Given the description of an element on the screen output the (x, y) to click on. 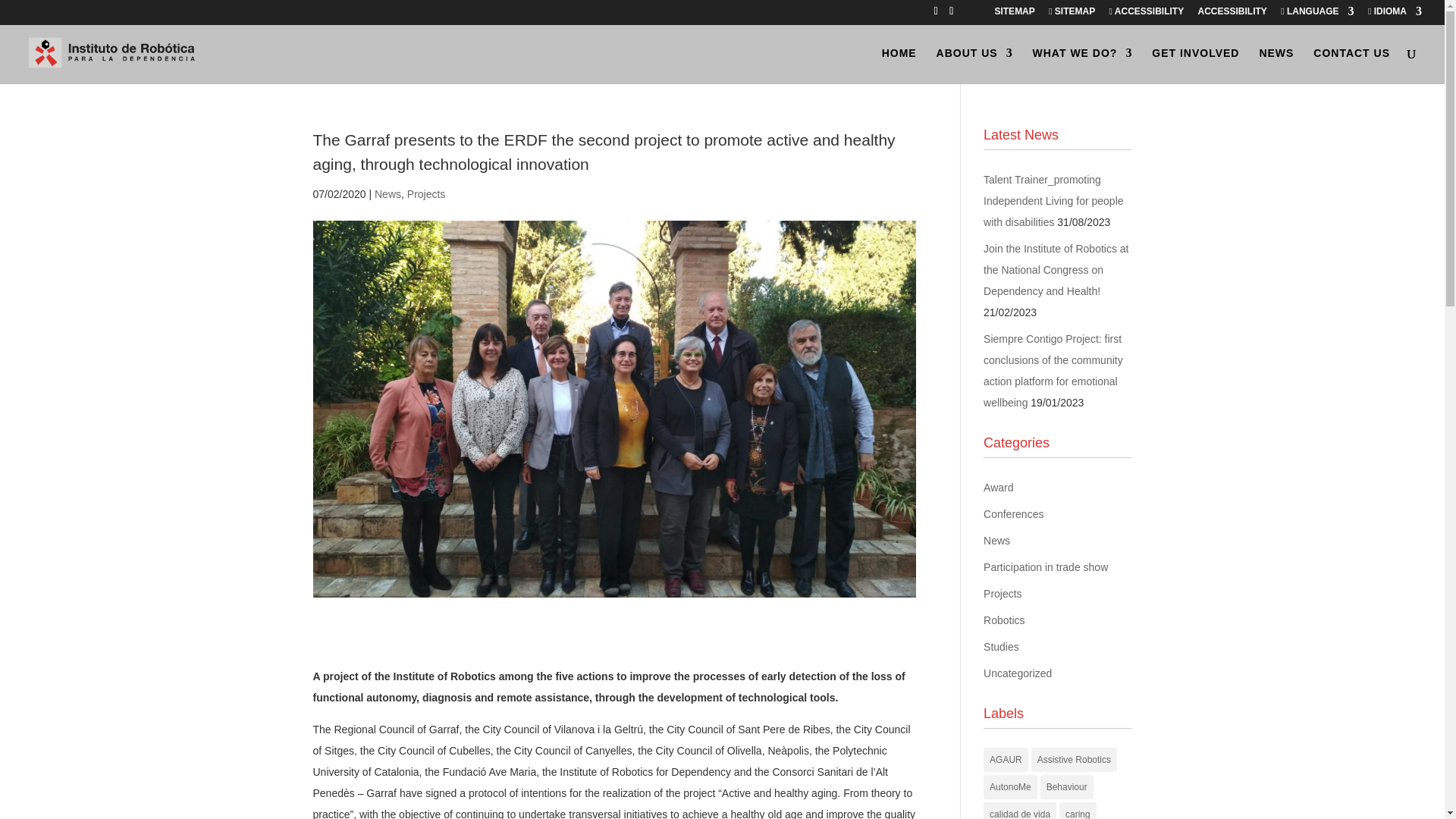
SITEMAP (1013, 14)
WHAT WE DO? (1082, 65)
CONTACT US (1351, 65)
NEWS (1276, 65)
Projects (426, 193)
HOME (899, 65)
News (387, 193)
GET INVOLVED (1195, 65)
